Given the description of an element on the screen output the (x, y) to click on. 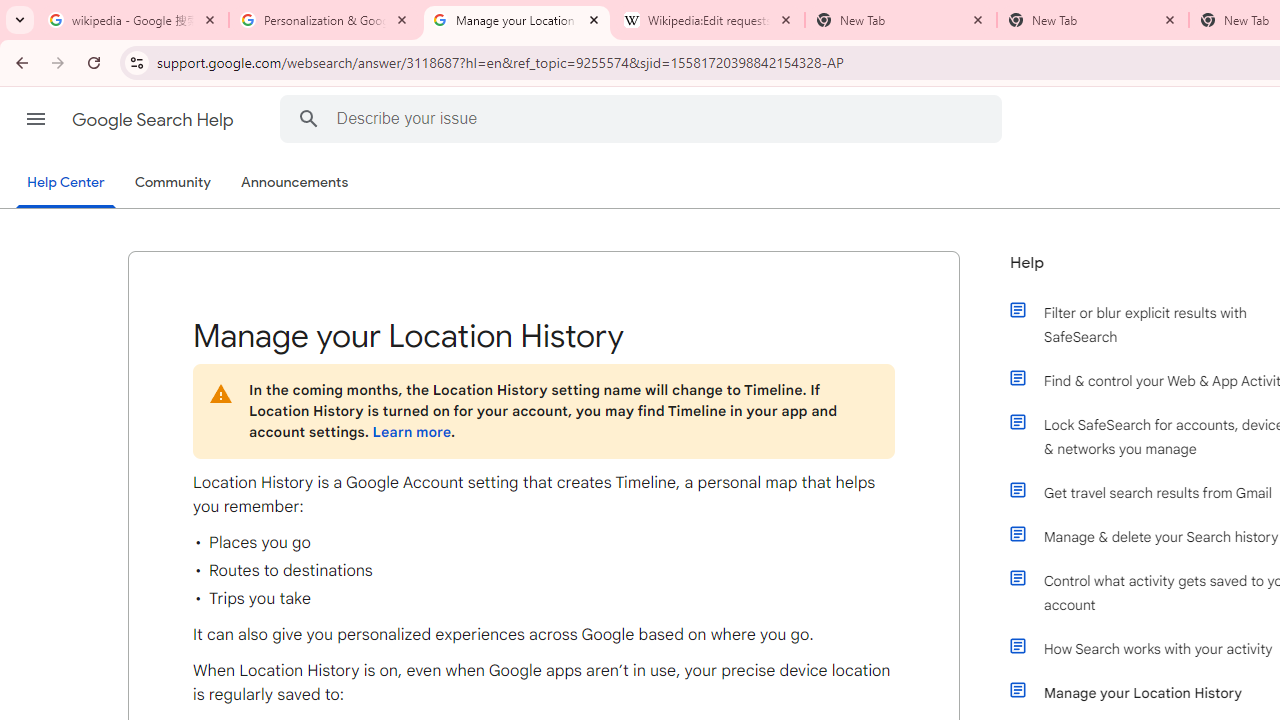
Announcements (294, 183)
Describe your issue (643, 118)
Wikipedia:Edit requests - Wikipedia (709, 20)
Personalization & Google Search results - Google Search Help (325, 20)
Help Center (65, 183)
Community (171, 183)
Google Search Help (154, 119)
